Given the description of an element on the screen output the (x, y) to click on. 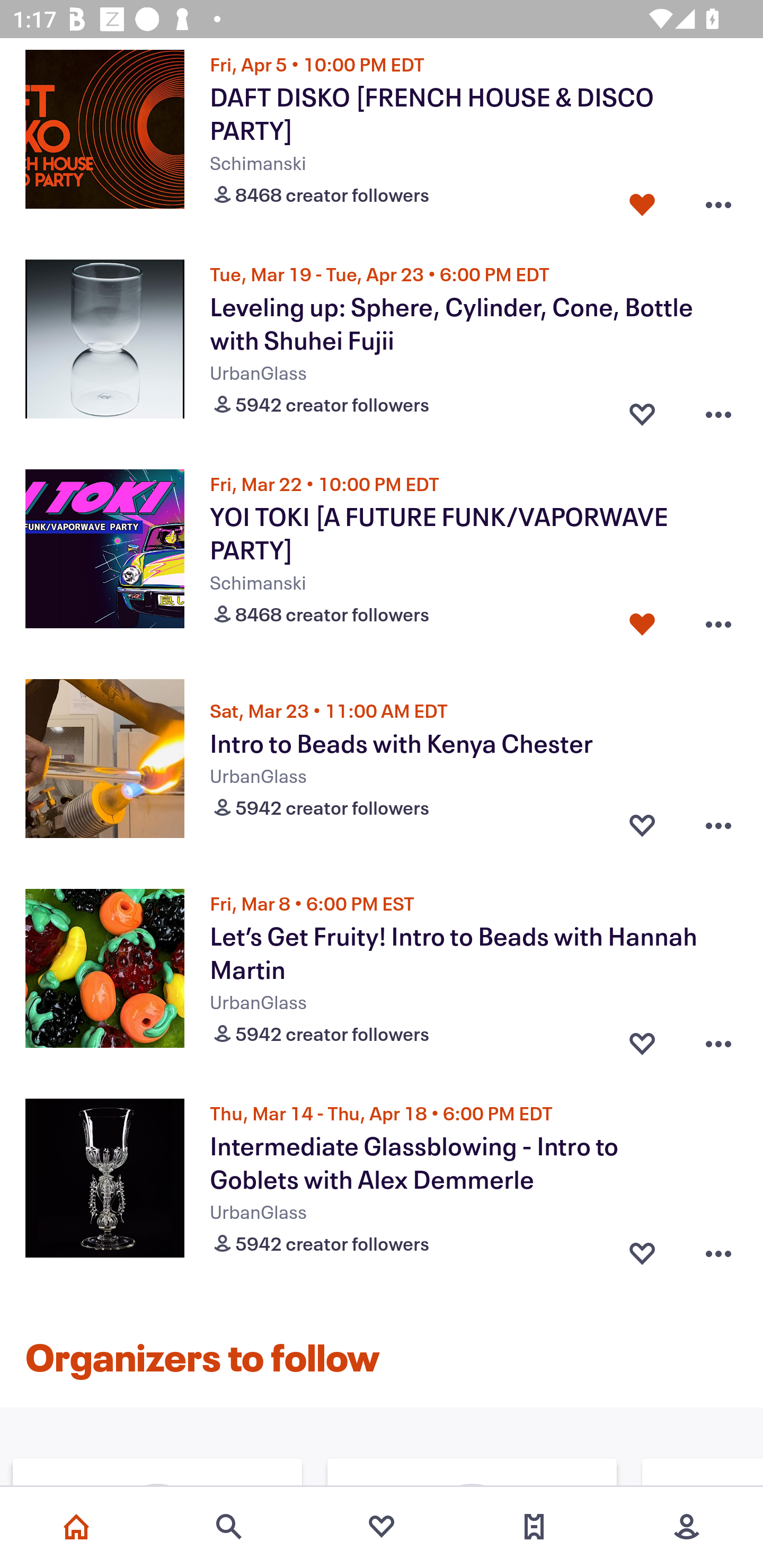
Favorite button (642, 199)
Overflow menu button (718, 199)
Favorite button (642, 409)
Overflow menu button (718, 409)
Favorite button (642, 619)
Overflow menu button (718, 619)
Favorite button (642, 825)
Overflow menu button (718, 825)
Favorite button (642, 1039)
Overflow menu button (718, 1039)
Favorite button (642, 1248)
Overflow menu button (718, 1248)
Home (76, 1526)
Search events (228, 1526)
Favorites (381, 1526)
Tickets (533, 1526)
More (686, 1526)
